Given the description of an element on the screen output the (x, y) to click on. 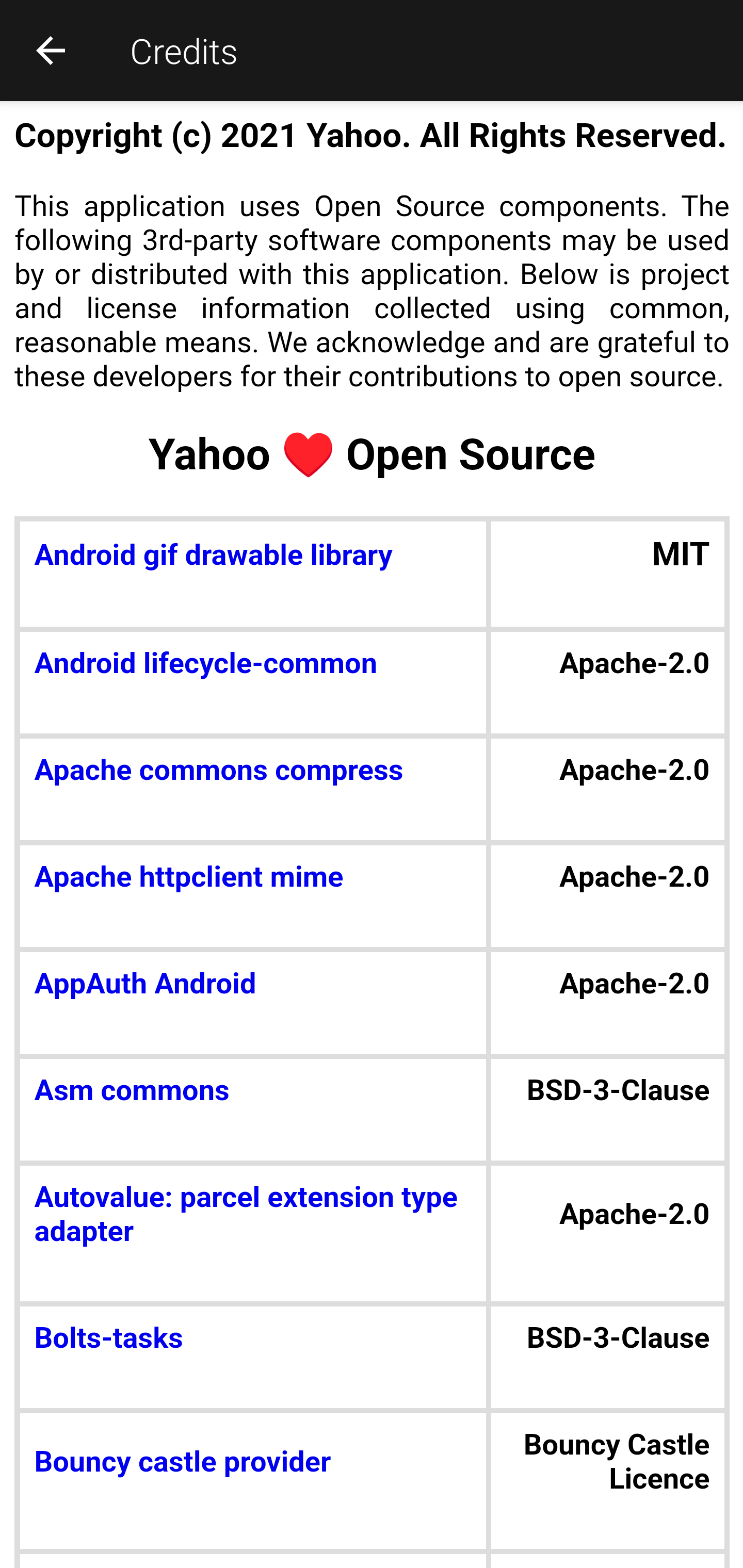
Navigate up (50, 50)
Android gif drawable library (212, 554)
Android lifecycle-common (205, 664)
Apache commons compress (218, 770)
Apache httpclient mime (188, 877)
AppAuth Android (144, 983)
Asm commons (131, 1090)
Bolts-tasks (108, 1336)
Bouncy castle provider (182, 1462)
